Given the description of an element on the screen output the (x, y) to click on. 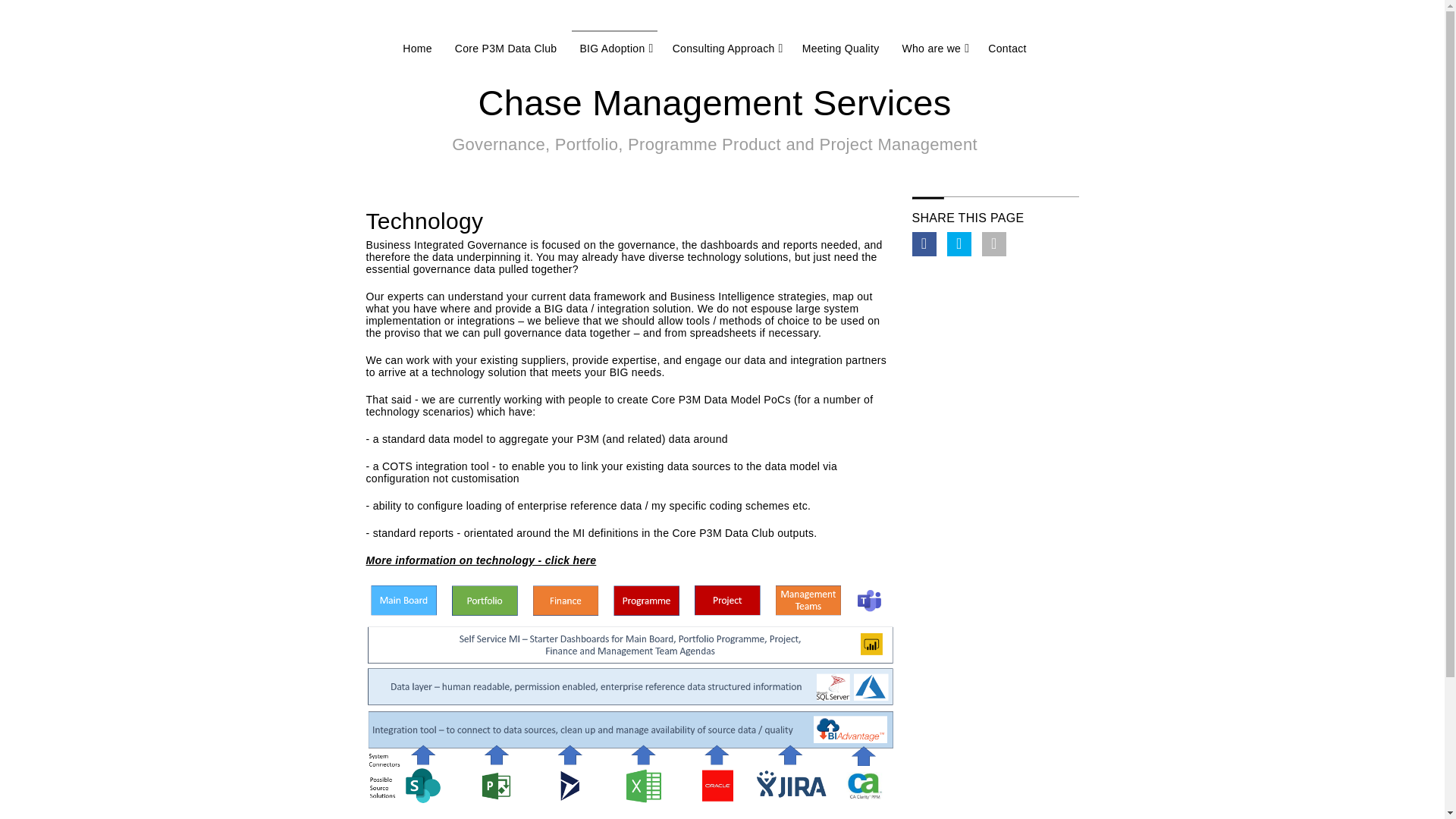
BIG Adoption (612, 48)
Home (417, 48)
Contact (1007, 48)
Chase Management Services (713, 102)
Meeting Quality (840, 48)
More information on technology - click here (480, 560)
Core P3M Data Club (505, 48)
Who are we (931, 48)
Consulting Approach (723, 48)
